Given the description of an element on the screen output the (x, y) to click on. 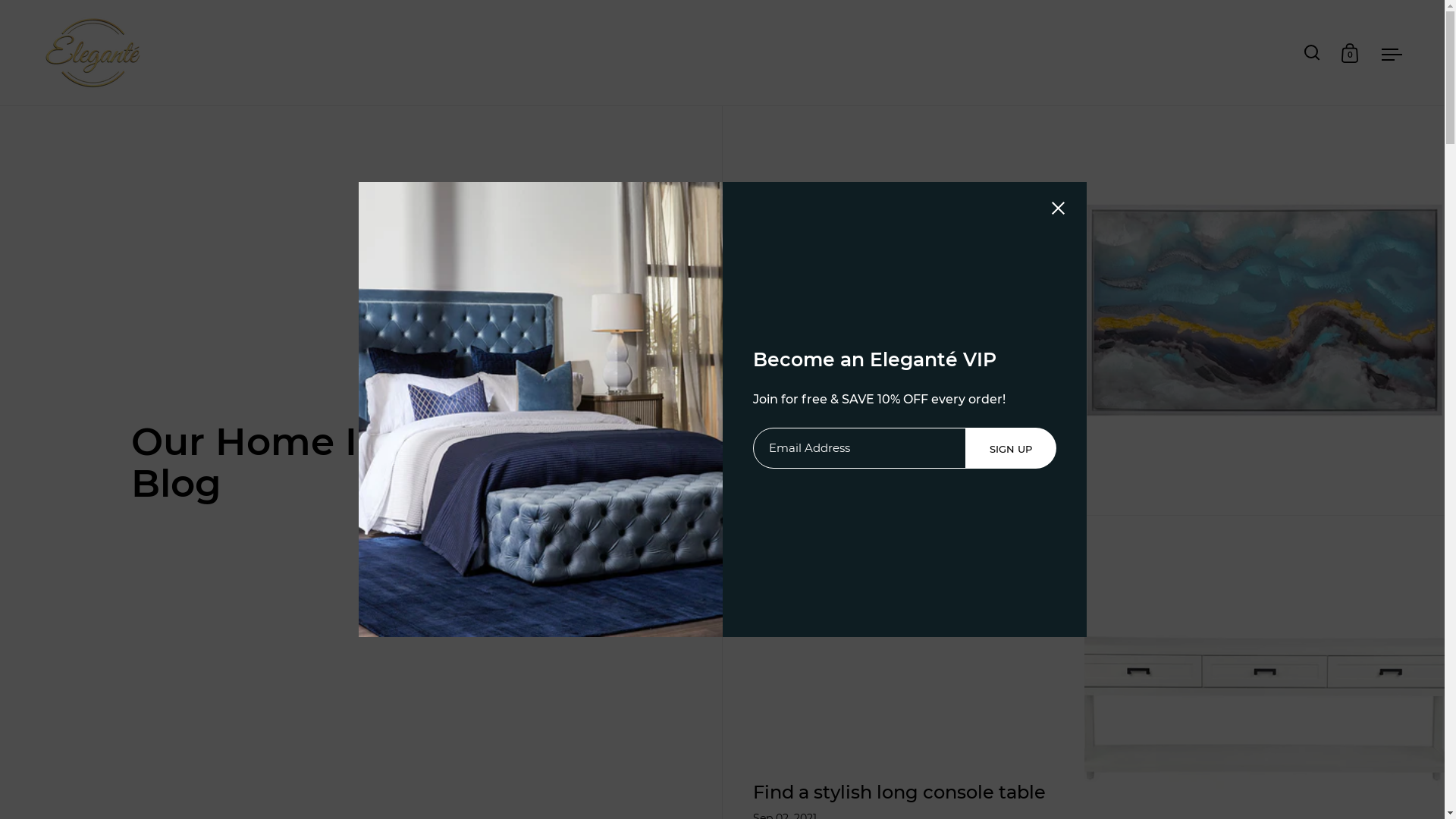
Skip to content Element type: text (0, 106)
Open search< Element type: hover (1312, 52)
0 Element type: text (1349, 52)
SIGN UP Element type: text (1009, 447)
Open menu Element type: text (1391, 52)
Close sidebar Element type: text (1057, 210)
